Given the description of an element on the screen output the (x, y) to click on. 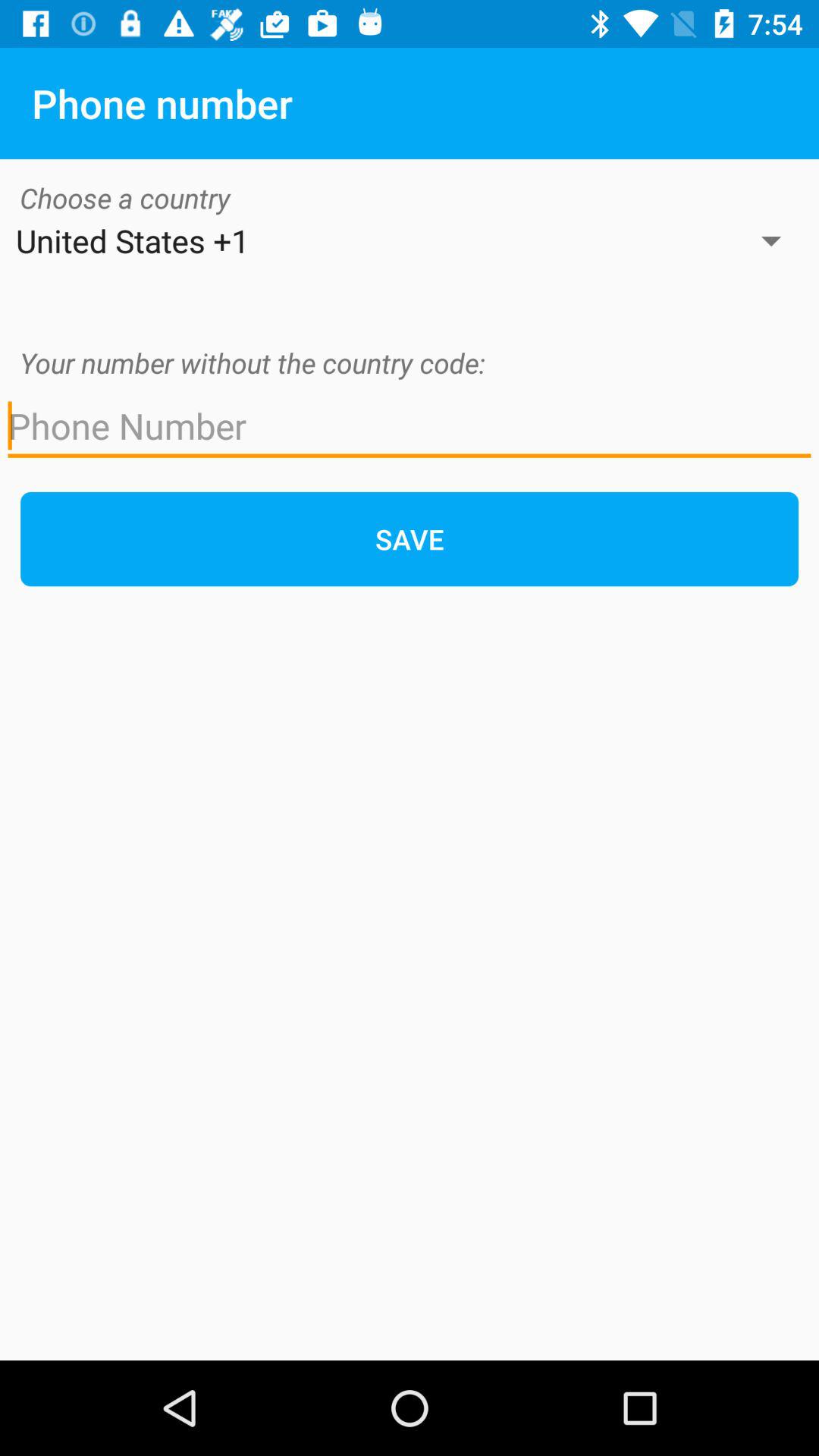
phone number entry field (409, 426)
